Given the description of an element on the screen output the (x, y) to click on. 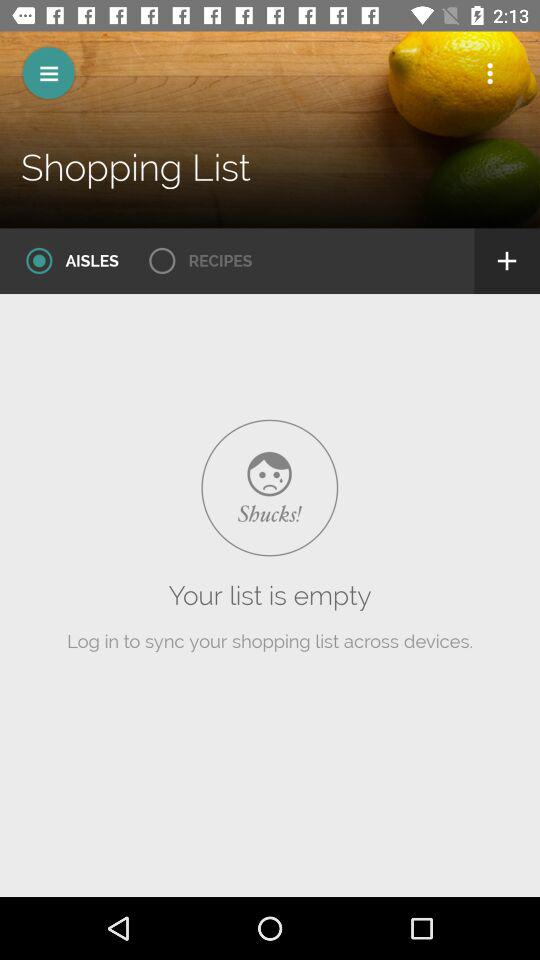
go to aisles (65, 261)
